Given the description of an element on the screen output the (x, y) to click on. 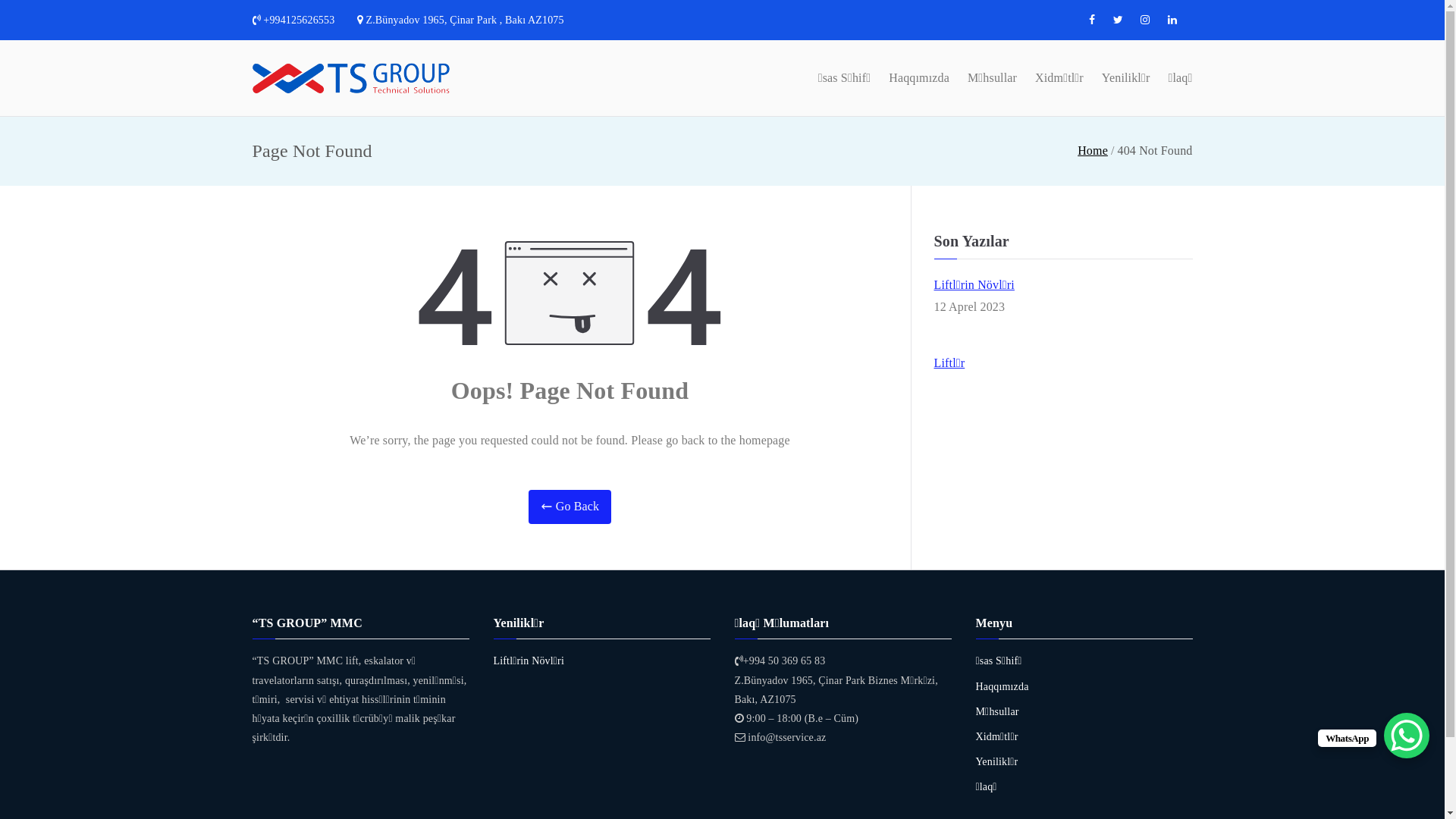
TS GROUP MMC Element type: text (584, 97)
Go Back Element type: text (569, 506)
Home Element type: text (1092, 150)
